Given the description of an element on the screen output the (x, y) to click on. 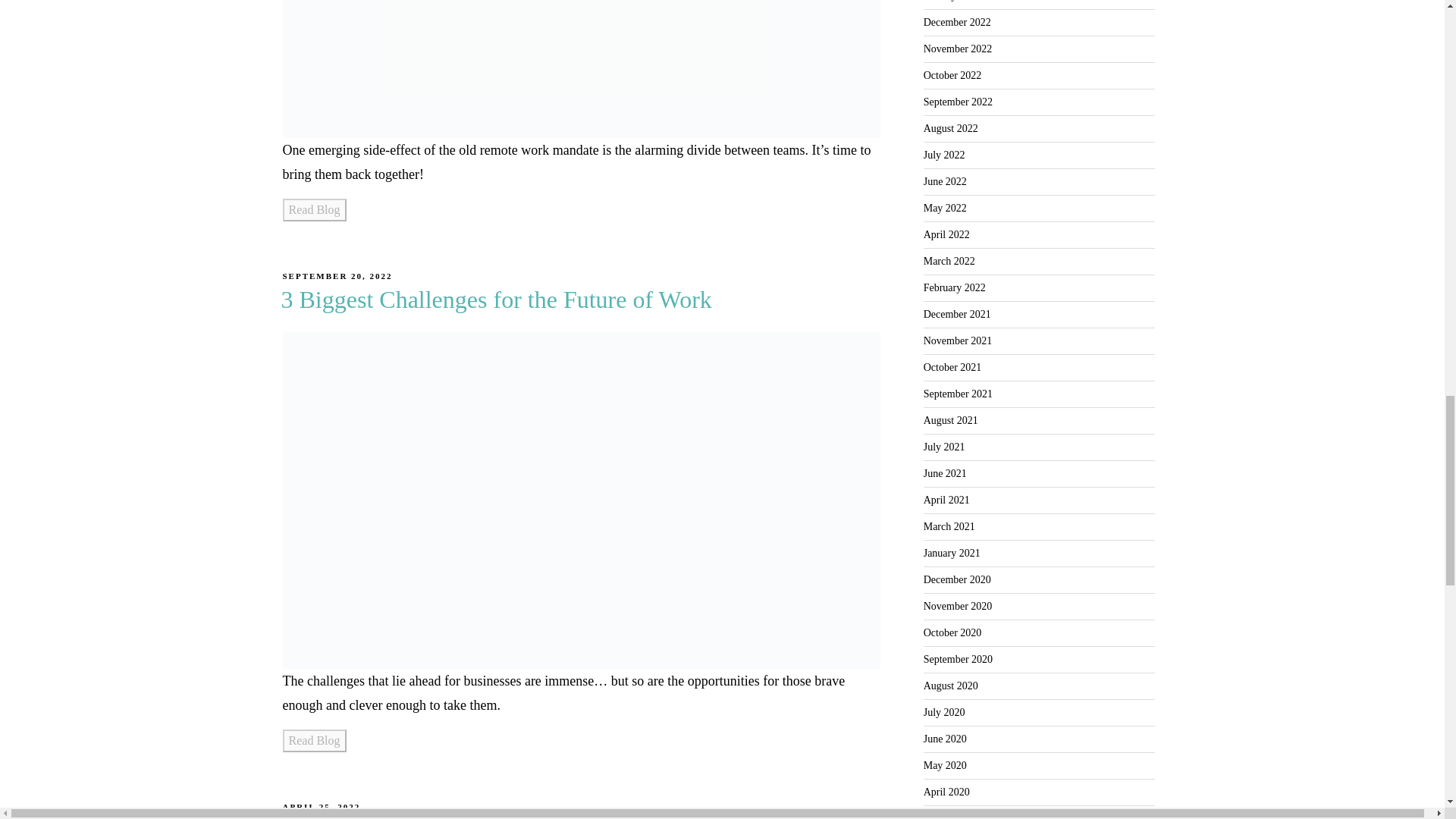
Read Blog (314, 209)
3 Biggest Challenges for the Future of Work (496, 298)
SEPTEMBER 20, 2022 (336, 275)
APRIL 25, 2022 (320, 806)
Read Blog (314, 740)
Read Blog (314, 210)
Read Blog (314, 739)
